Given the description of an element on the screen output the (x, y) to click on. 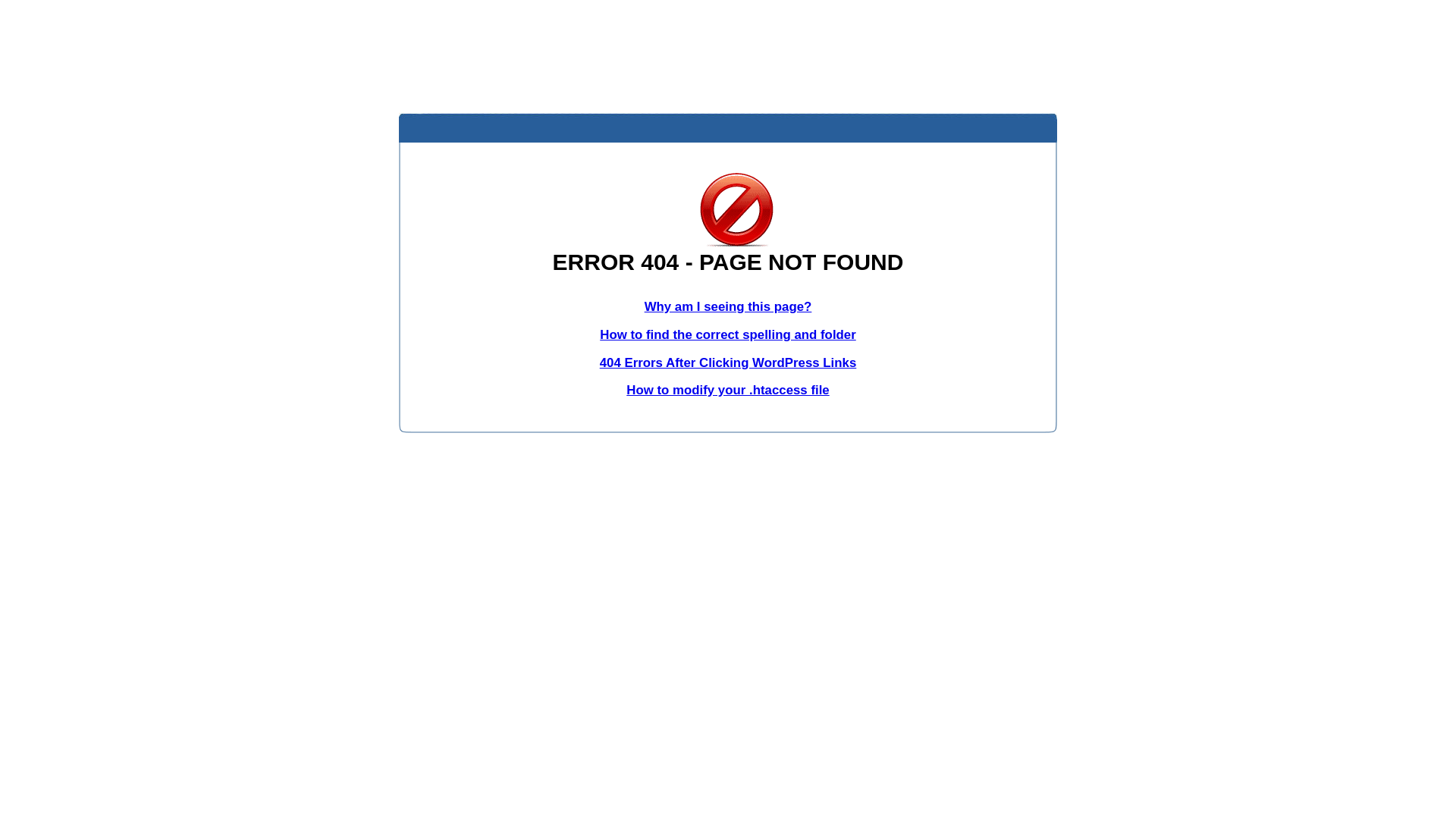
How to modify your .htaccess file Element type: text (727, 389)
How to find the correct spelling and folder Element type: text (727, 334)
404 Errors After Clicking WordPress Links Element type: text (727, 362)
Why am I seeing this page? Element type: text (728, 306)
